Given the description of an element on the screen output the (x, y) to click on. 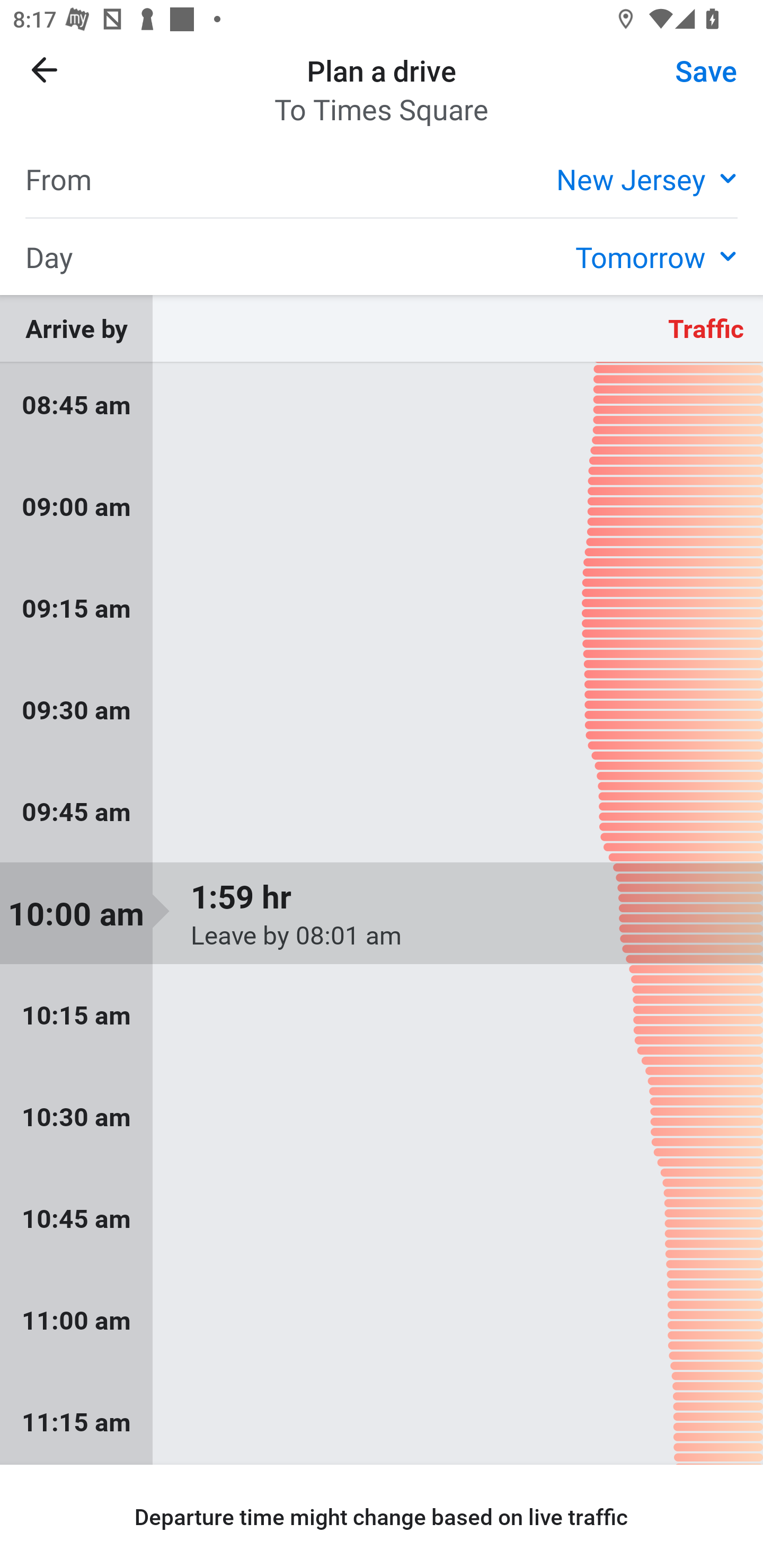
Save (706, 69)
New Jersey (646, 178)
Tomorrow (656, 255)
08:45 am (381, 409)
09:00 am (381, 506)
09:15 am (381, 607)
09:30 am (381, 709)
10:00 am 1:59 hr Leave by 08:01 am (381, 913)
10:15 am (381, 1015)
10:30 am (381, 1117)
10:45 am (381, 1218)
11:00 am (381, 1319)
11:15 am (381, 1417)
